Given the description of an element on the screen output the (x, y) to click on. 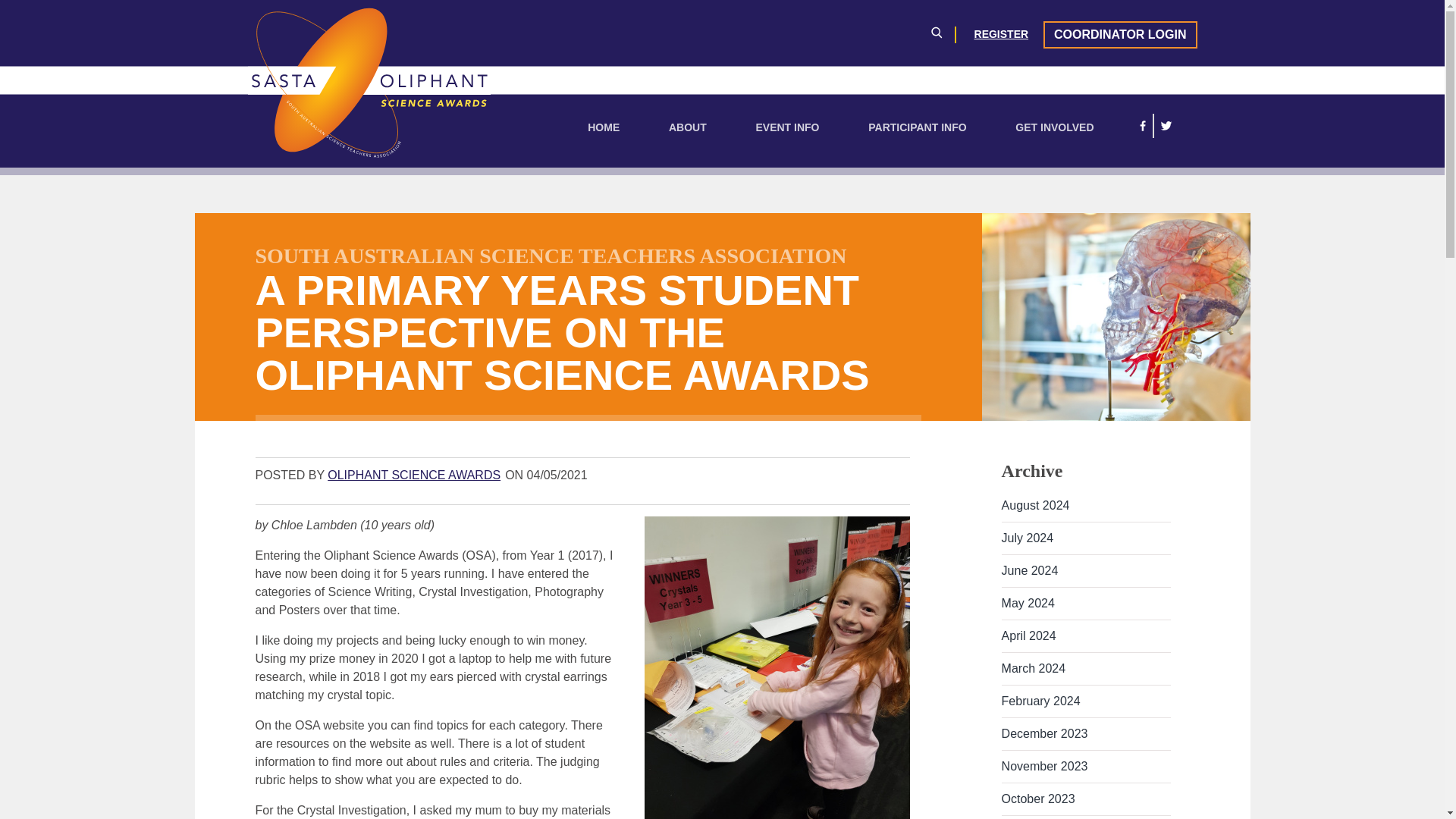
Follow SASTA on Facebook (1142, 125)
OLIPHANT SCIENCE AWARDS (413, 474)
ABOUT (687, 127)
GET INVOLVED (1053, 127)
EVENT INFO (786, 127)
PARTICIPANT INFO (916, 127)
REGISTER (1001, 33)
HOME (604, 127)
COORDINATOR LOGIN (1119, 34)
Follow SASTA on Twitter (1166, 125)
